Given the description of an element on the screen output the (x, y) to click on. 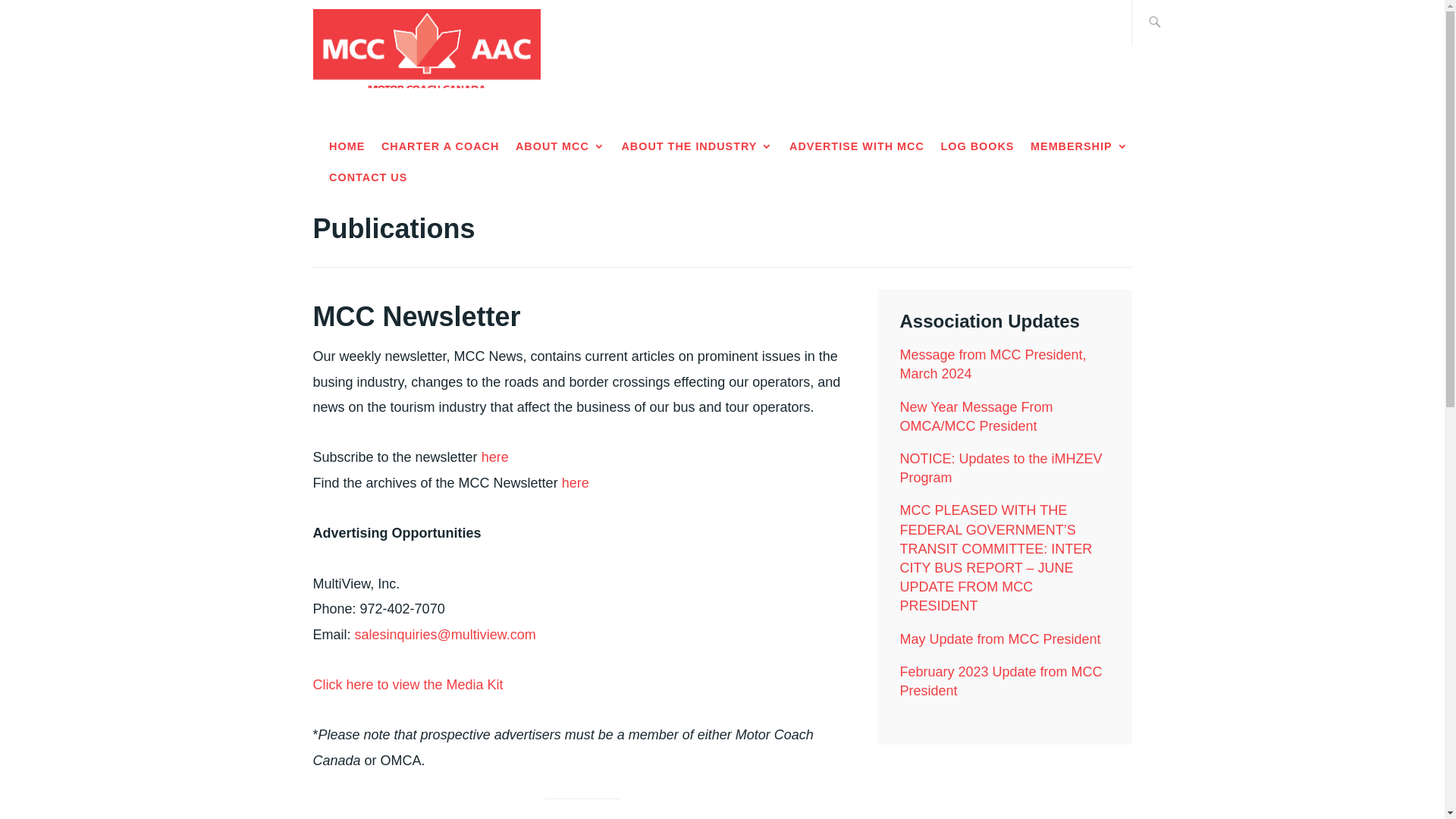
HOME (347, 146)
ABOUT MCC (560, 146)
CHARTER A COACH (440, 146)
February 2023 Update from MCC President (1000, 681)
NOTICE: Updates to the iMHZEV Program (1000, 468)
CONTACT US (368, 177)
Message from MCC President, March 2024 (992, 364)
LOG BOOKS (976, 146)
here (575, 482)
Click here to view the Media Kit (407, 684)
